Given the description of an element on the screen output the (x, y) to click on. 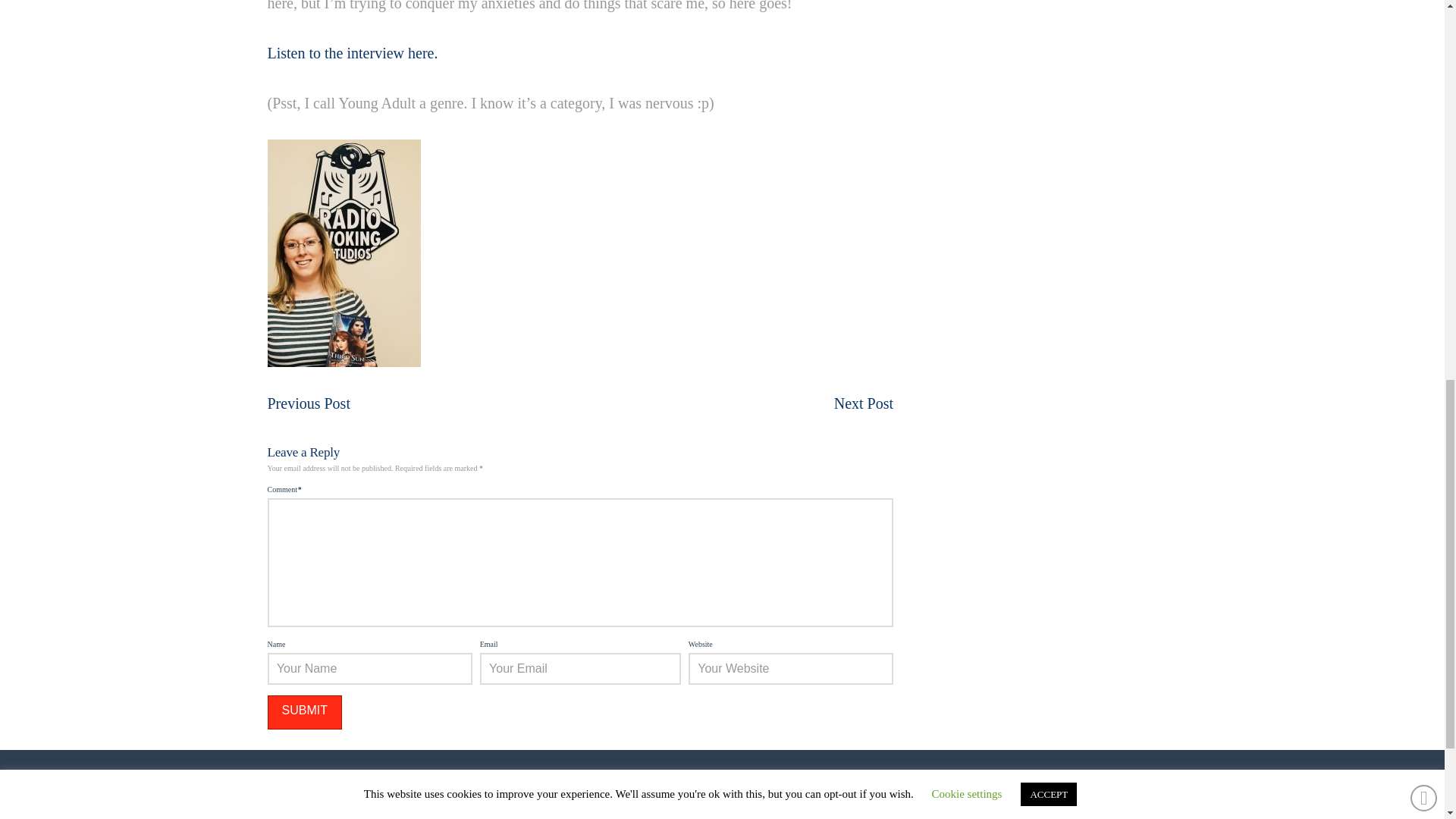
Submit (303, 712)
Next Post (863, 402)
Submit (303, 712)
Instagram (721, 811)
Previous Post (307, 402)
Listen to the interview here. (352, 53)
